Given the description of an element on the screen output the (x, y) to click on. 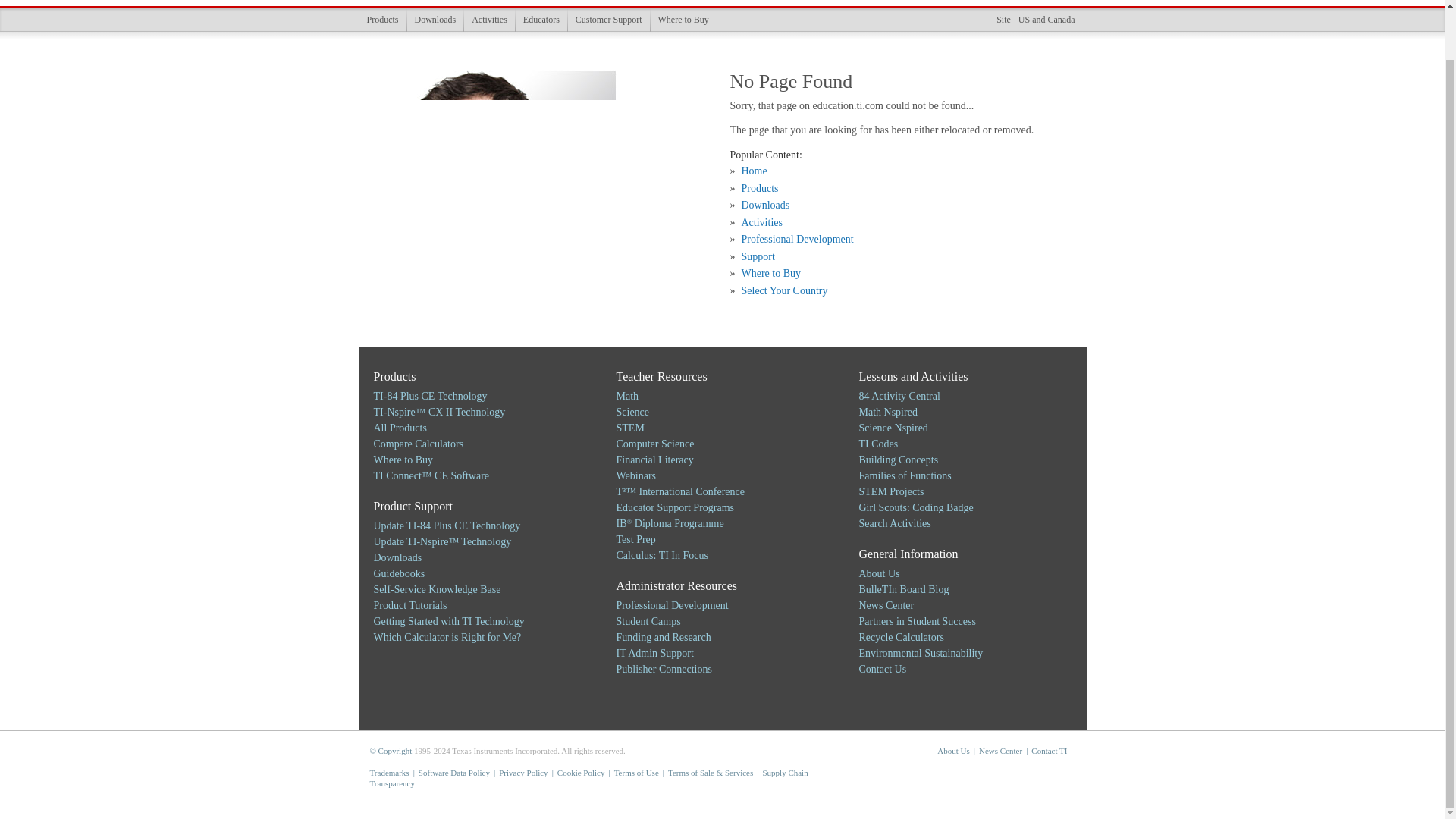
Self-Service Knowledge Base  (436, 589)
Update TI-Nspire Technology (441, 541)
Which Calculator is Right for Me? (446, 636)
Guidebooks (398, 573)
Compare Calculators (417, 443)
Where to Buy (402, 460)
Product Tutorials (409, 604)
Science (632, 411)
Downloads (435, 19)
Update TI-84 Plus CE Technology (445, 525)
